Given the description of an element on the screen output the (x, y) to click on. 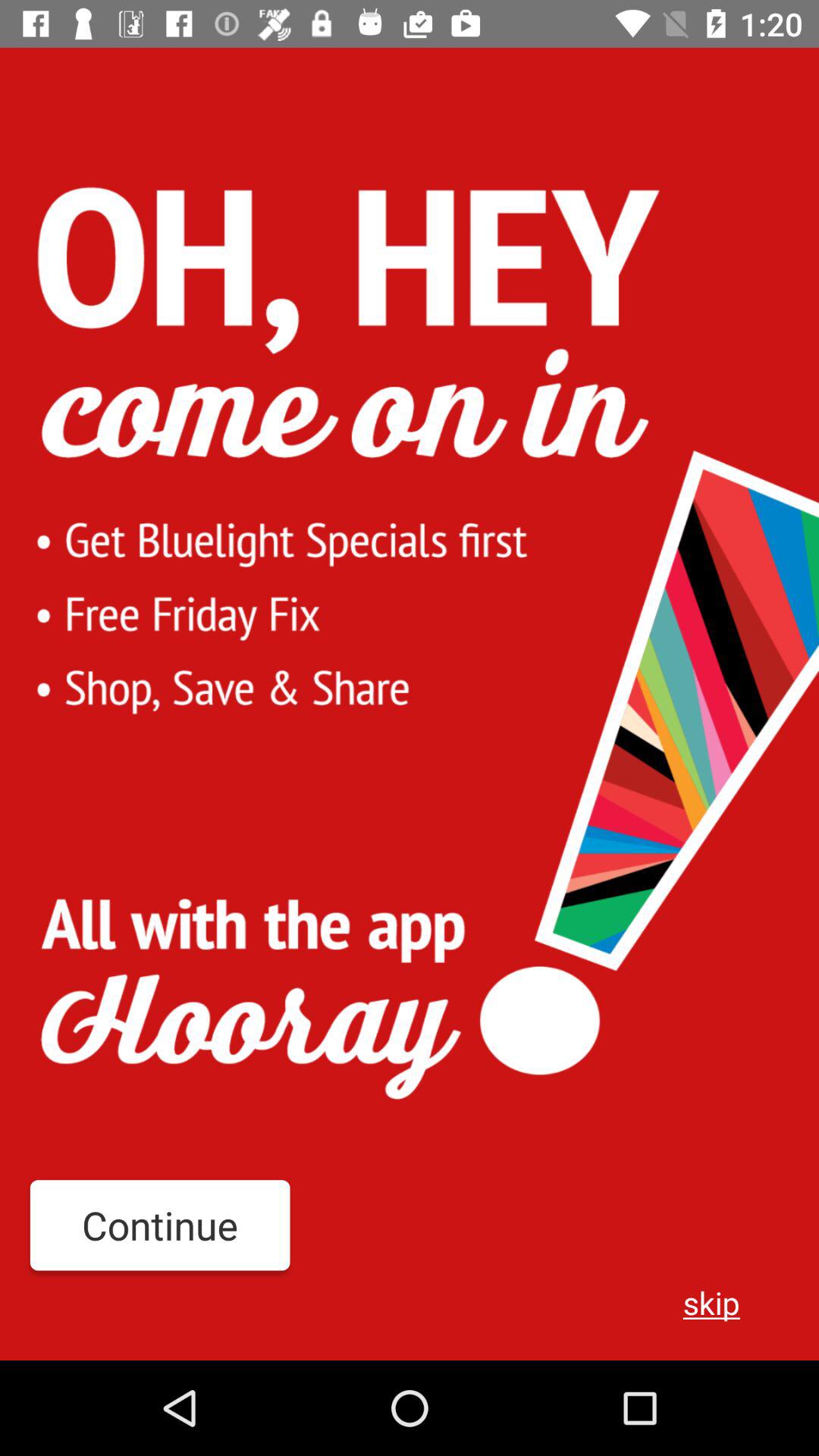
select item at the bottom right corner (711, 1302)
